Given the description of an element on the screen output the (x, y) to click on. 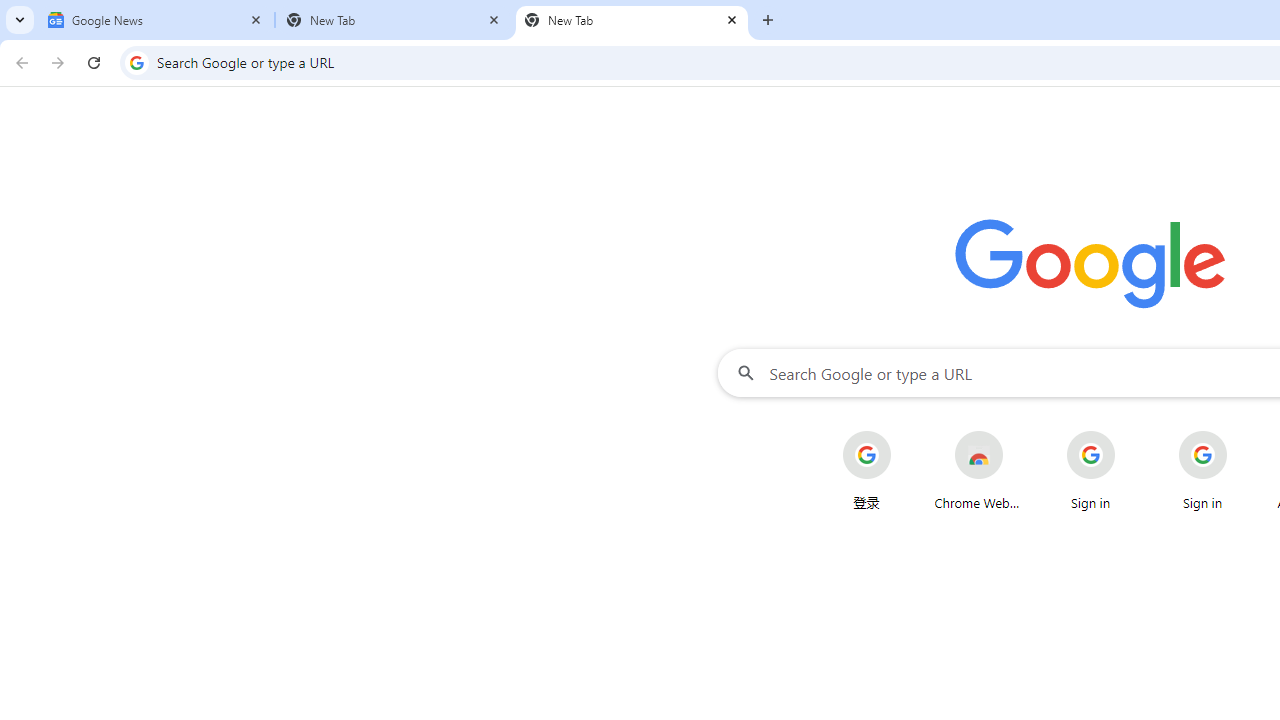
Chrome Web Store (978, 470)
New Tab (632, 20)
Google News (156, 20)
More actions for Sign in shortcut (1241, 433)
